Given the description of an element on the screen output the (x, y) to click on. 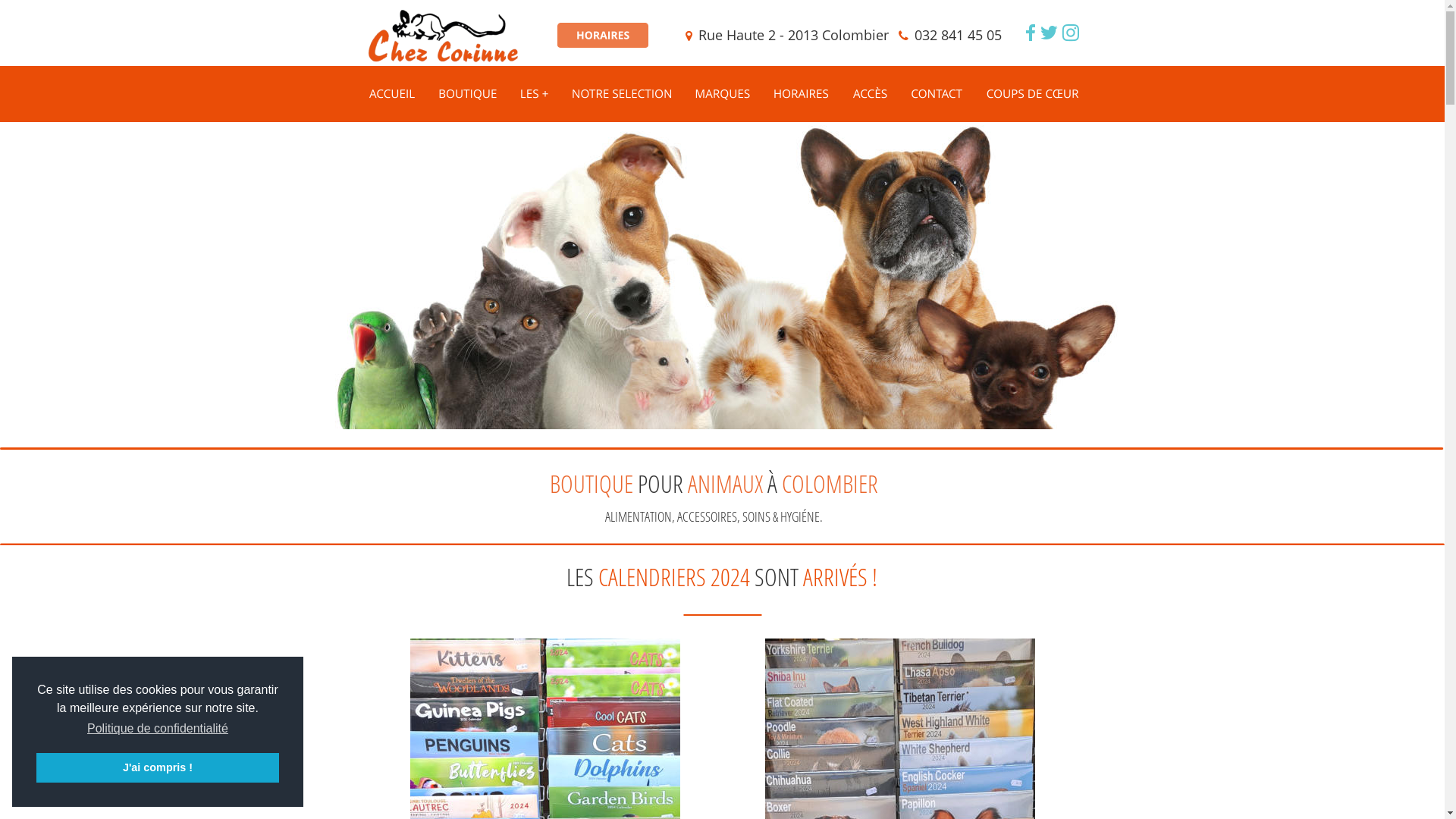
J'ai compris ! Element type: text (157, 767)
